Given the description of an element on the screen output the (x, y) to click on. 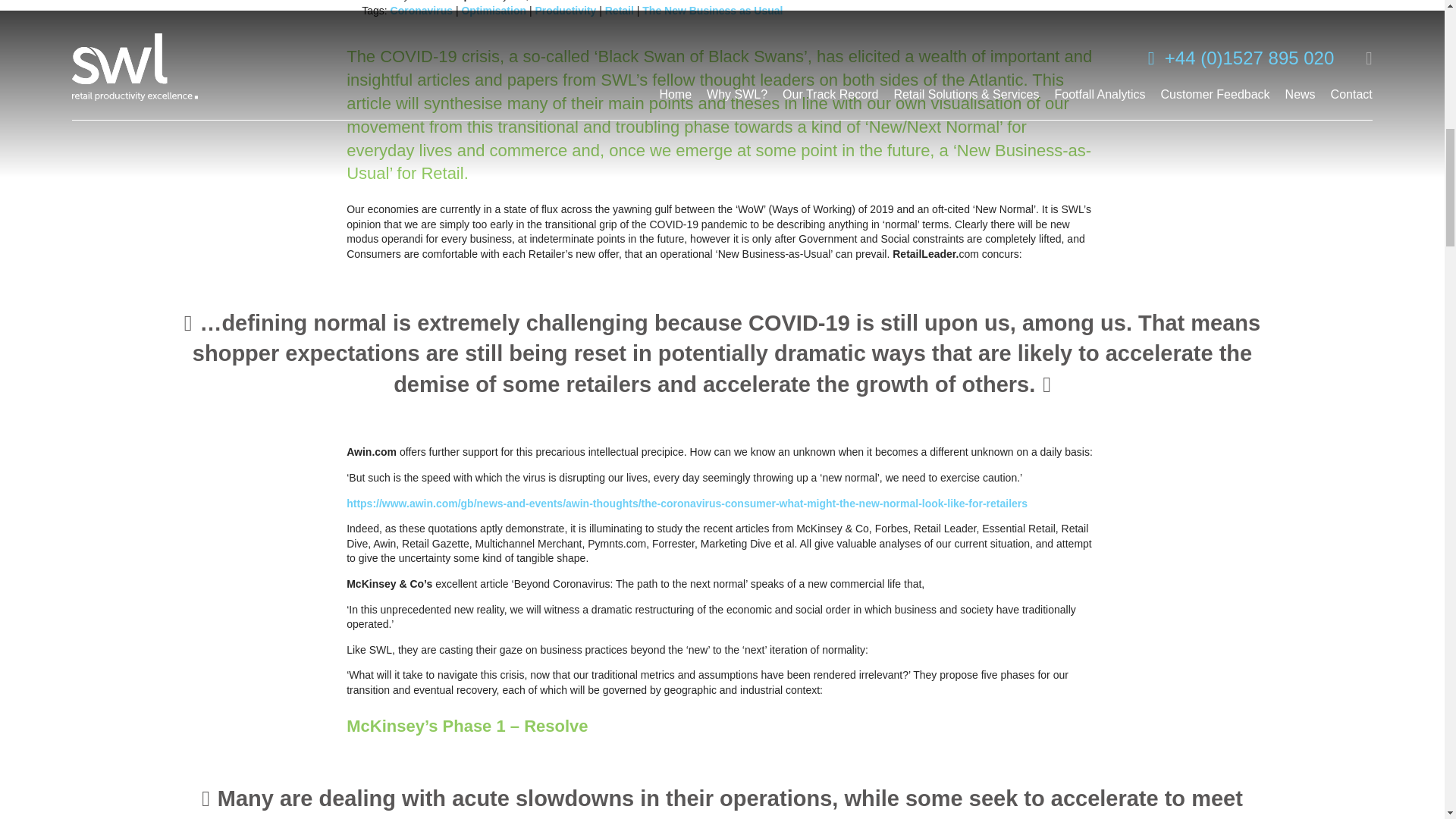
Productivity (564, 10)
Retail (619, 10)
Coronavirus (421, 10)
Optimisation (493, 10)
The New Business as Usual (712, 10)
